Given the description of an element on the screen output the (x, y) to click on. 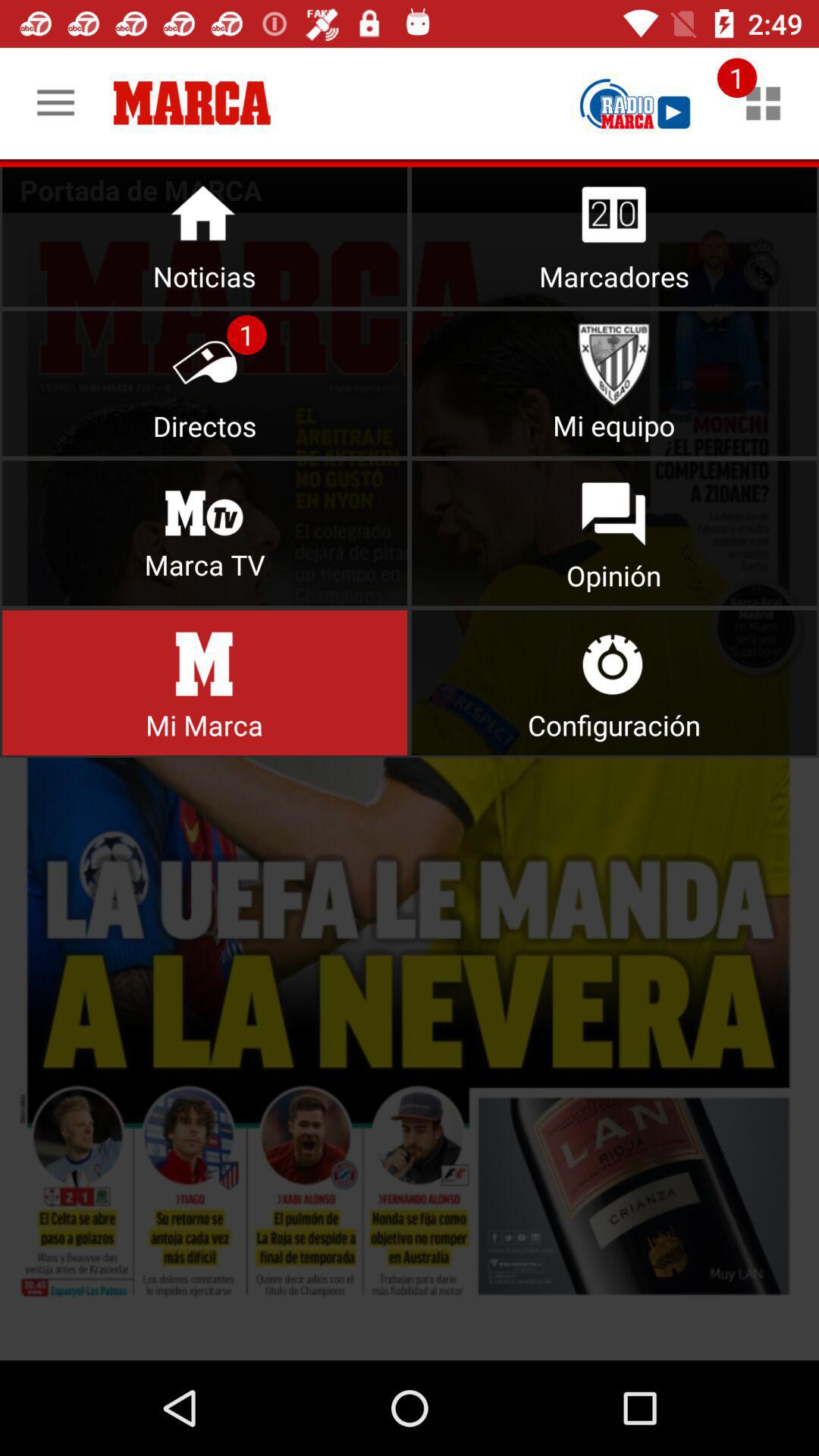
home button (204, 233)
